Given the description of an element on the screen output the (x, y) to click on. 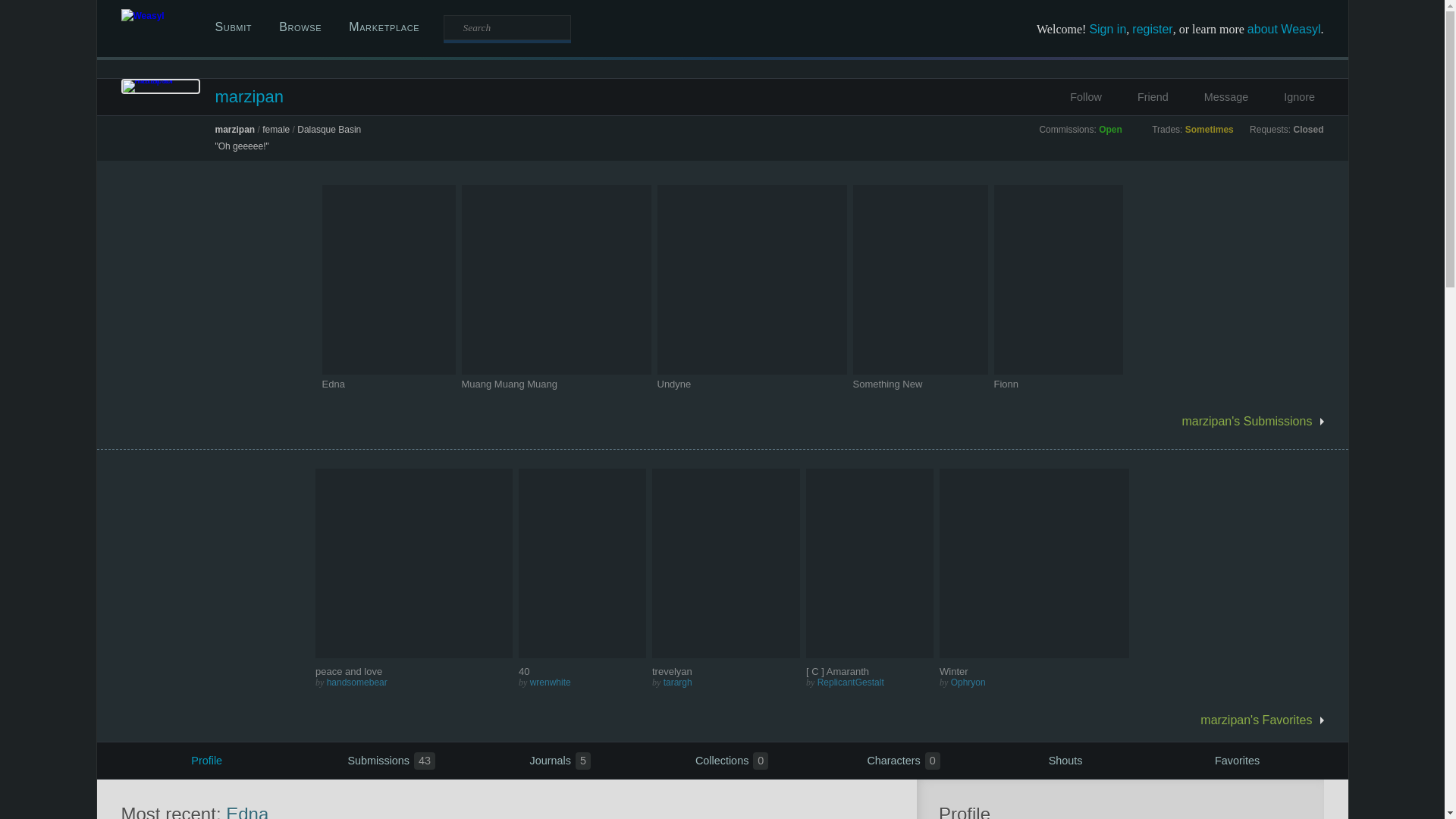
Muang Muang Muang (508, 383)
Search Weasyl (507, 27)
by tarargh (725, 682)
Something New (886, 383)
Undyne (673, 383)
about Weasyl (1283, 29)
Browse (299, 27)
Edna (332, 383)
Muang Muang Muang (555, 383)
Submit (233, 27)
Undyne (750, 383)
Message (1216, 96)
trevelyan (725, 671)
Edna (387, 383)
by handsomebear (413, 682)
